Given the description of an element on the screen output the (x, y) to click on. 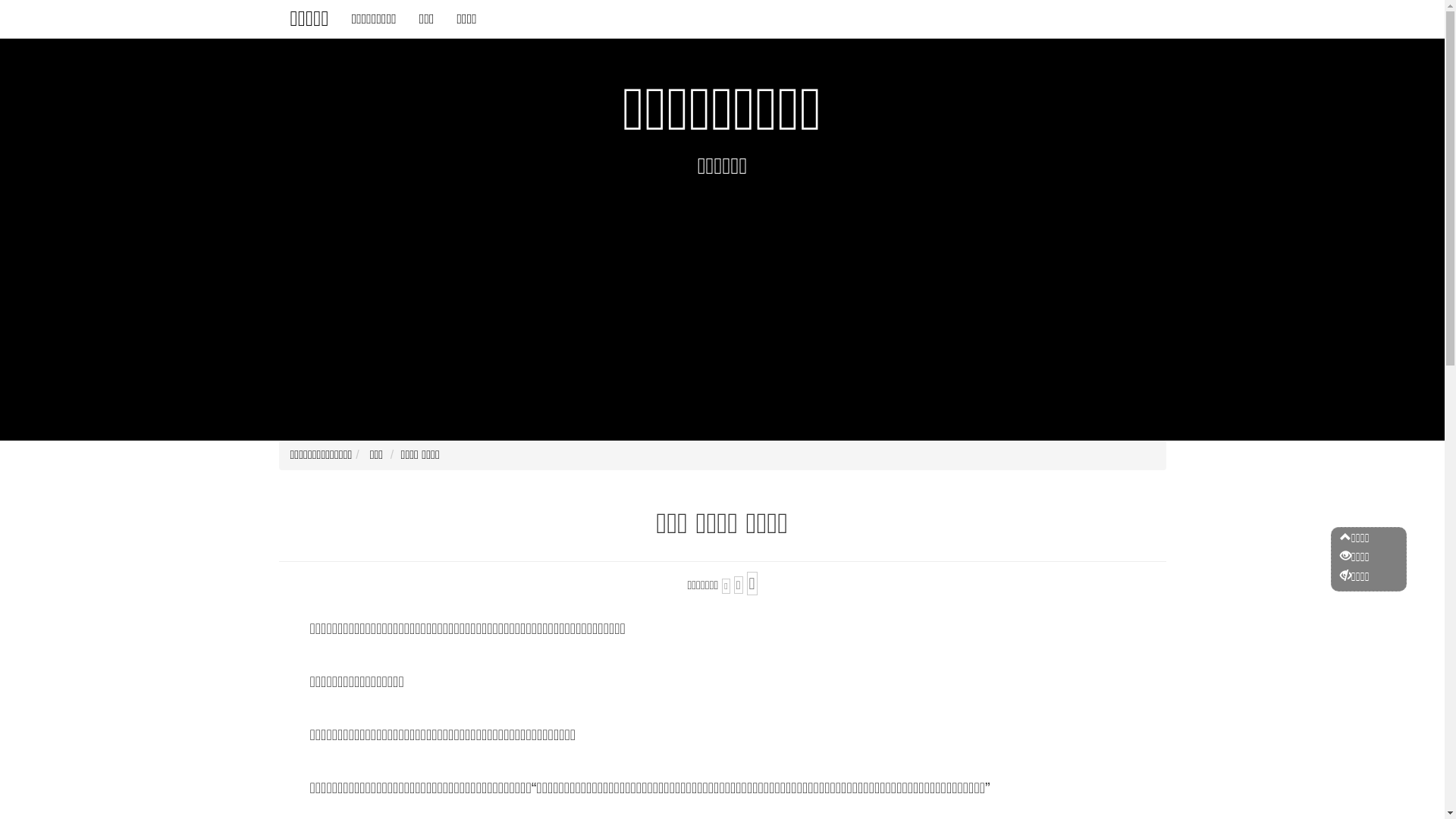
Advertisement Element type: hover (721, 303)
